Given the description of an element on the screen output the (x, y) to click on. 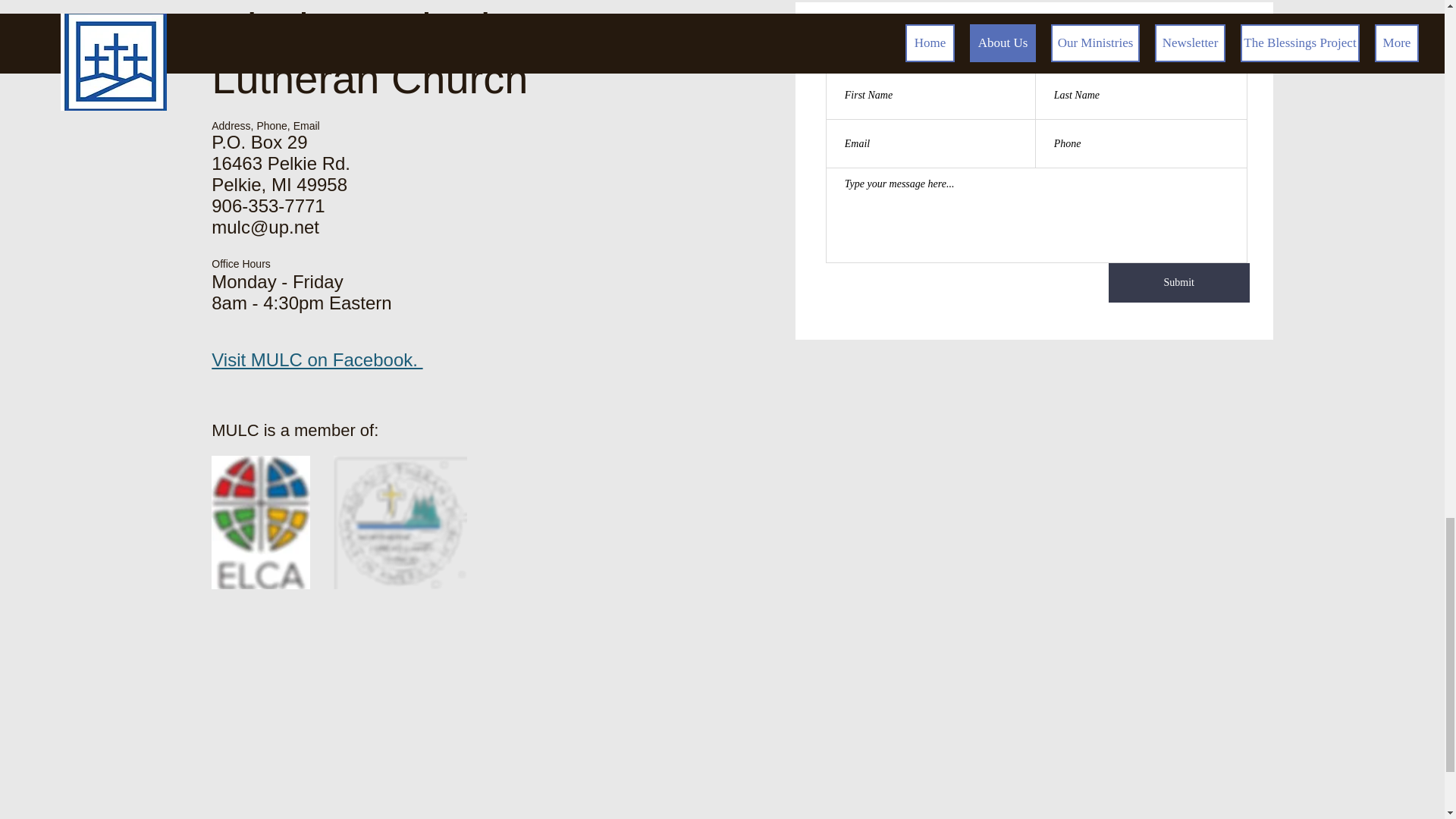
Visit MULC on Facebook.  (316, 359)
Submit (1178, 282)
